Given the description of an element on the screen output the (x, y) to click on. 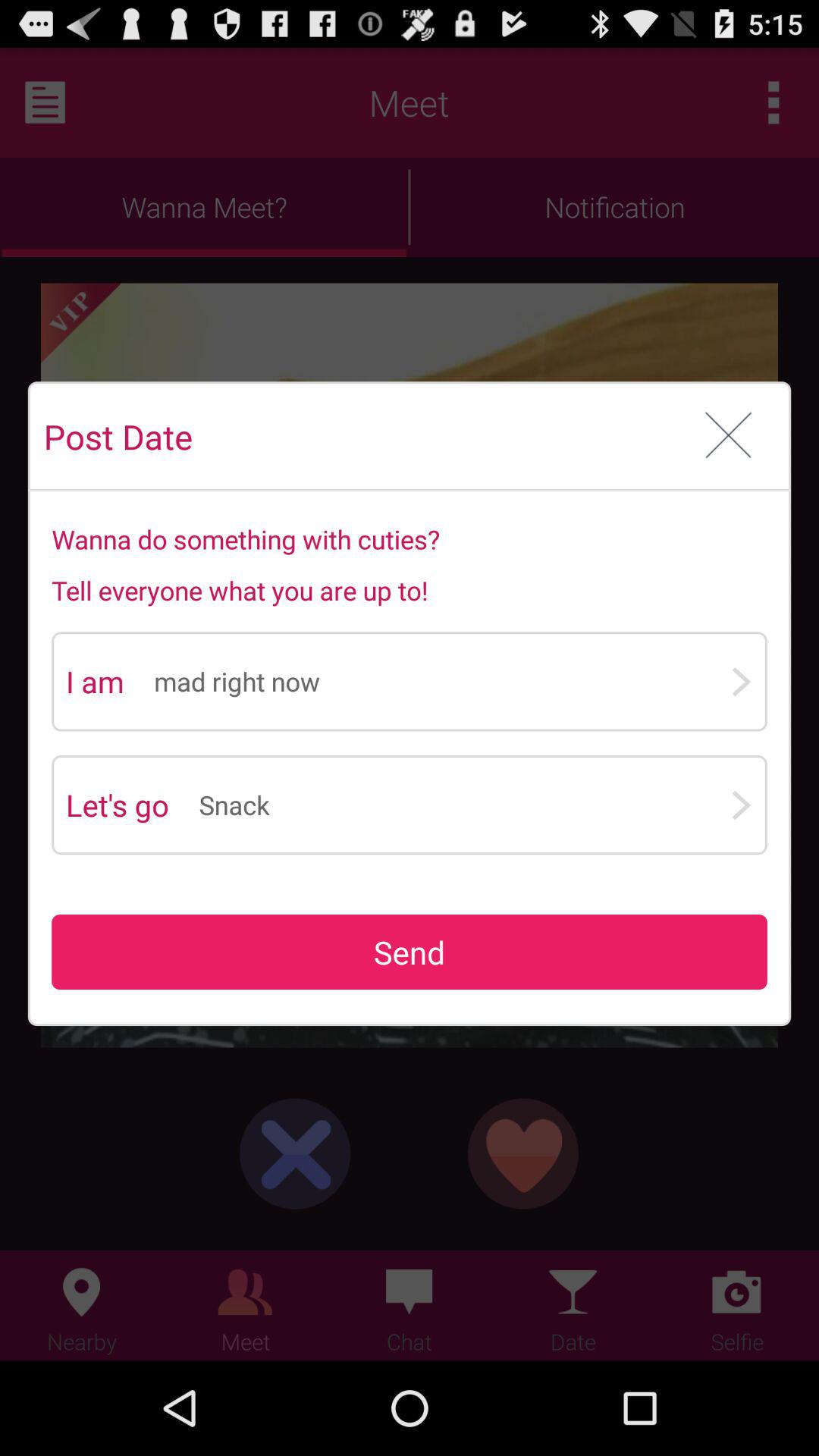
turn on icon above send item (464, 804)
